Given the description of an element on the screen output the (x, y) to click on. 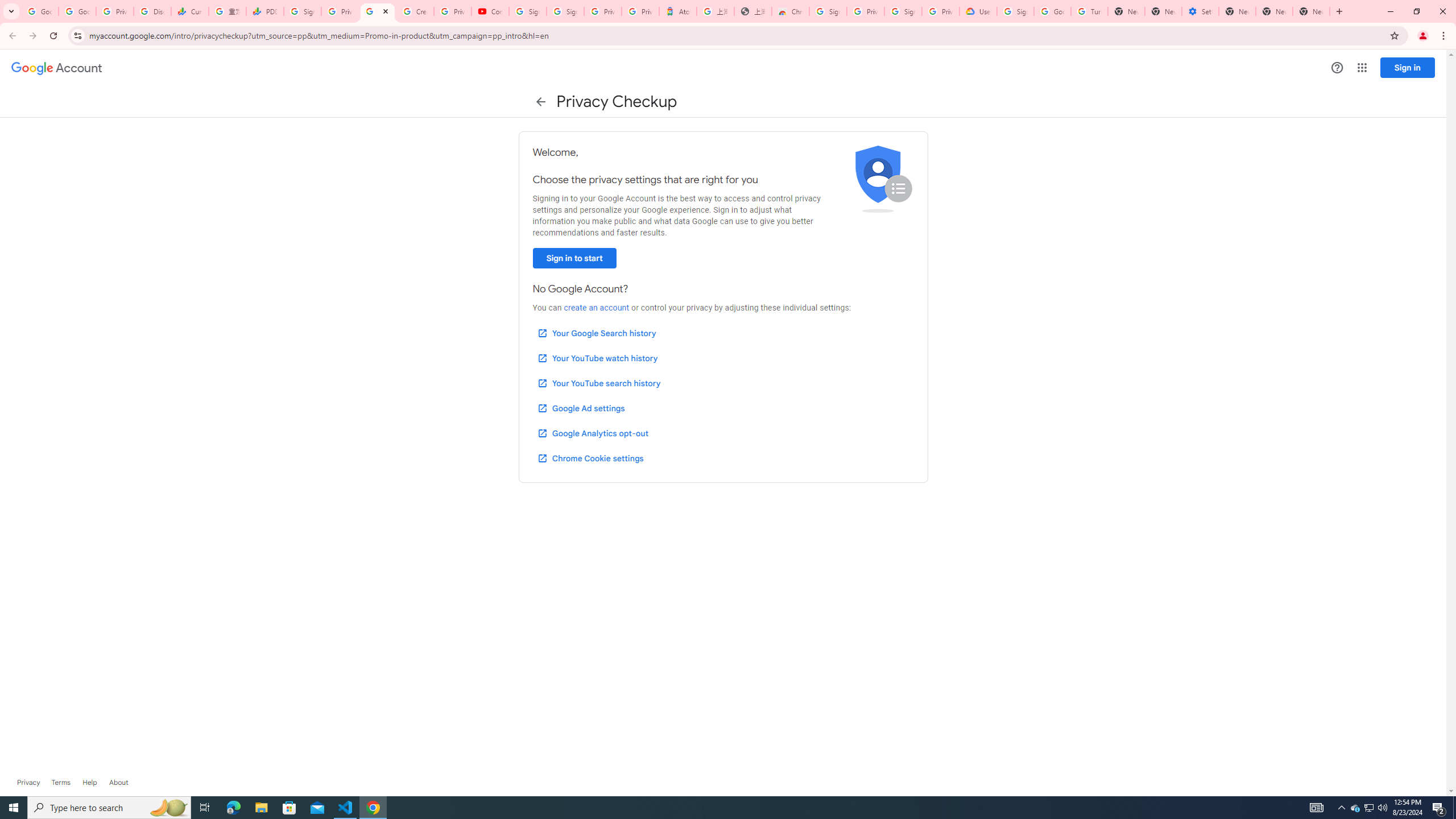
Your YouTube watch history (597, 358)
Atour Hotel - Google hotels (677, 11)
PDD Holdings Inc - ADR (PDD) Price & News - Google Finance (264, 11)
Content Creator Programs & Opportunities - YouTube Creators (489, 11)
